Given the description of an element on the screen output the (x, y) to click on. 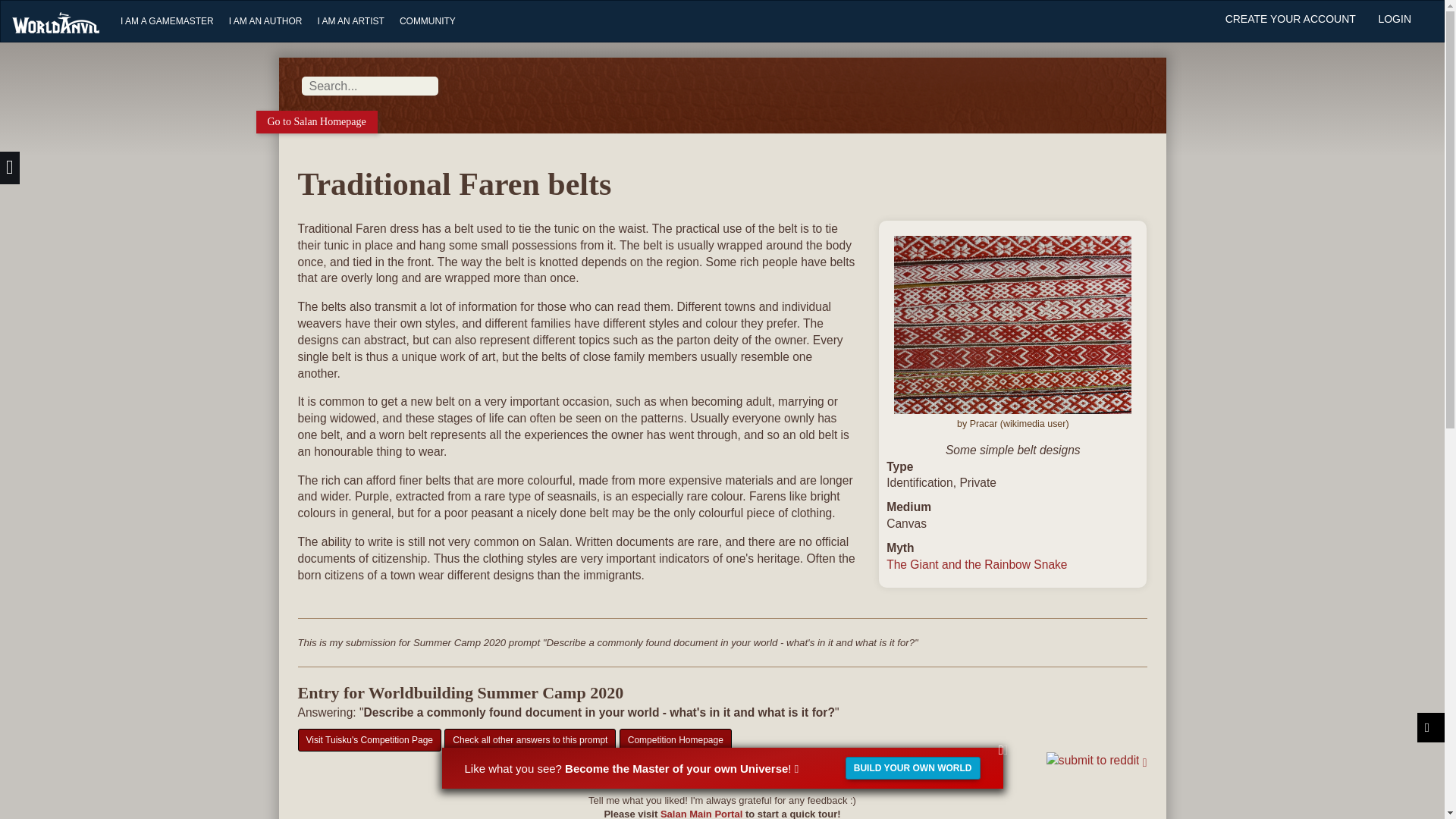
I AM A GAMEMASTER (167, 21)
LOGIN (1394, 19)
Competition Homepage (676, 739)
CREATE YOUR ACCOUNT (1290, 19)
I AM AN AUTHOR (265, 21)
COMMUNITY (428, 21)
The Giant and the Rainbow Snake (976, 563)
Salan Main Portal (701, 813)
Go to Salan Homepage (316, 121)
I AM AN ARTIST (350, 21)
